Given the description of an element on the screen output the (x, y) to click on. 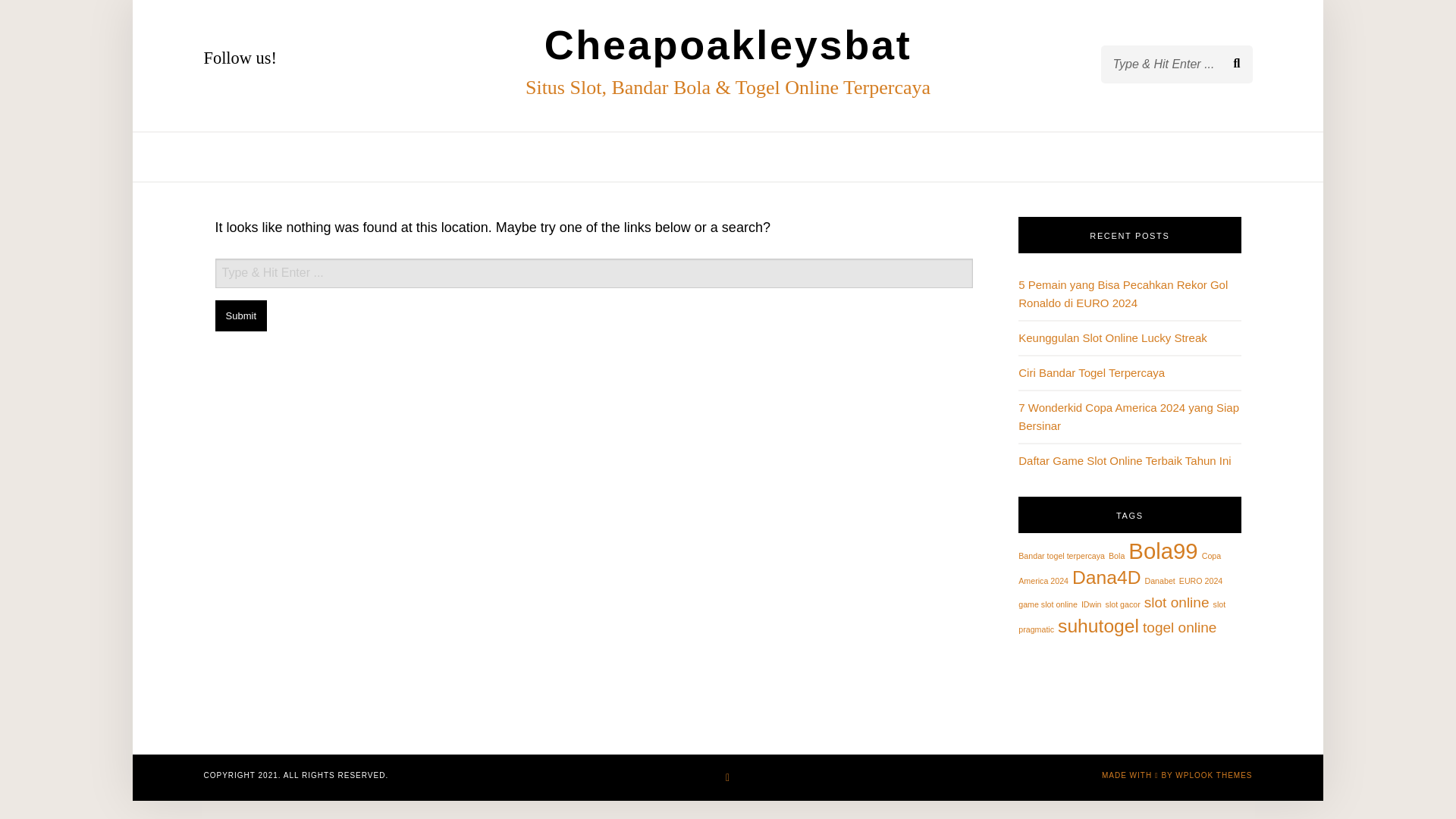
Copa America 2024 (1119, 568)
IDwin (1091, 604)
EURO 2024 (1201, 580)
Ciri Bandar Togel Terpercaya (1090, 372)
slot pragmatic (1121, 616)
5 Pemain yang Bisa Pecahkan Rekor Gol Ronaldo di EURO 2024 (1122, 293)
Dana4D (1105, 577)
togel online (1178, 627)
Bola (1116, 555)
Submit (241, 315)
